Given the description of an element on the screen output the (x, y) to click on. 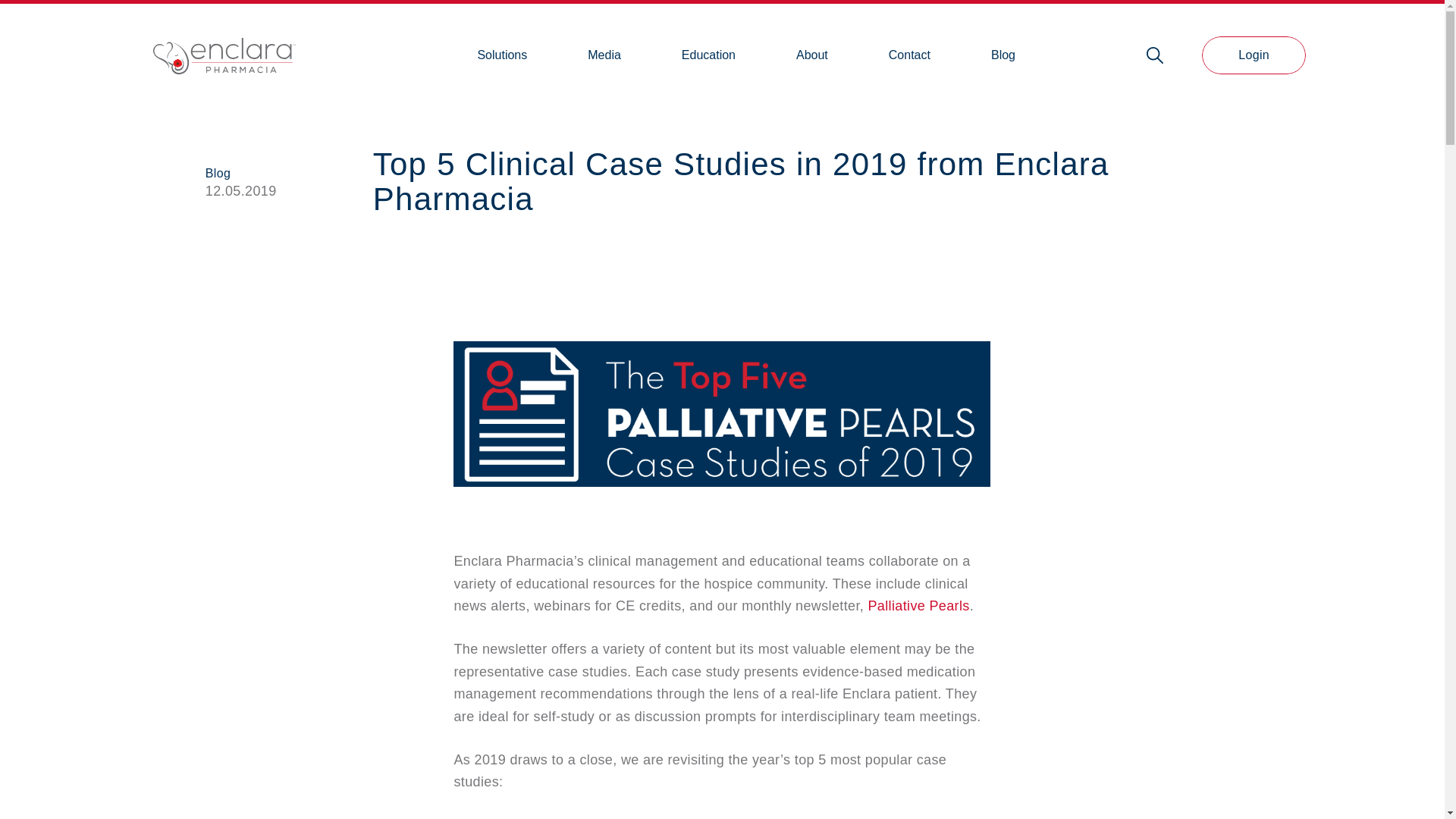
Solutions (501, 55)
Education (707, 55)
Media (603, 55)
About (812, 55)
